Given the description of an element on the screen output the (x, y) to click on. 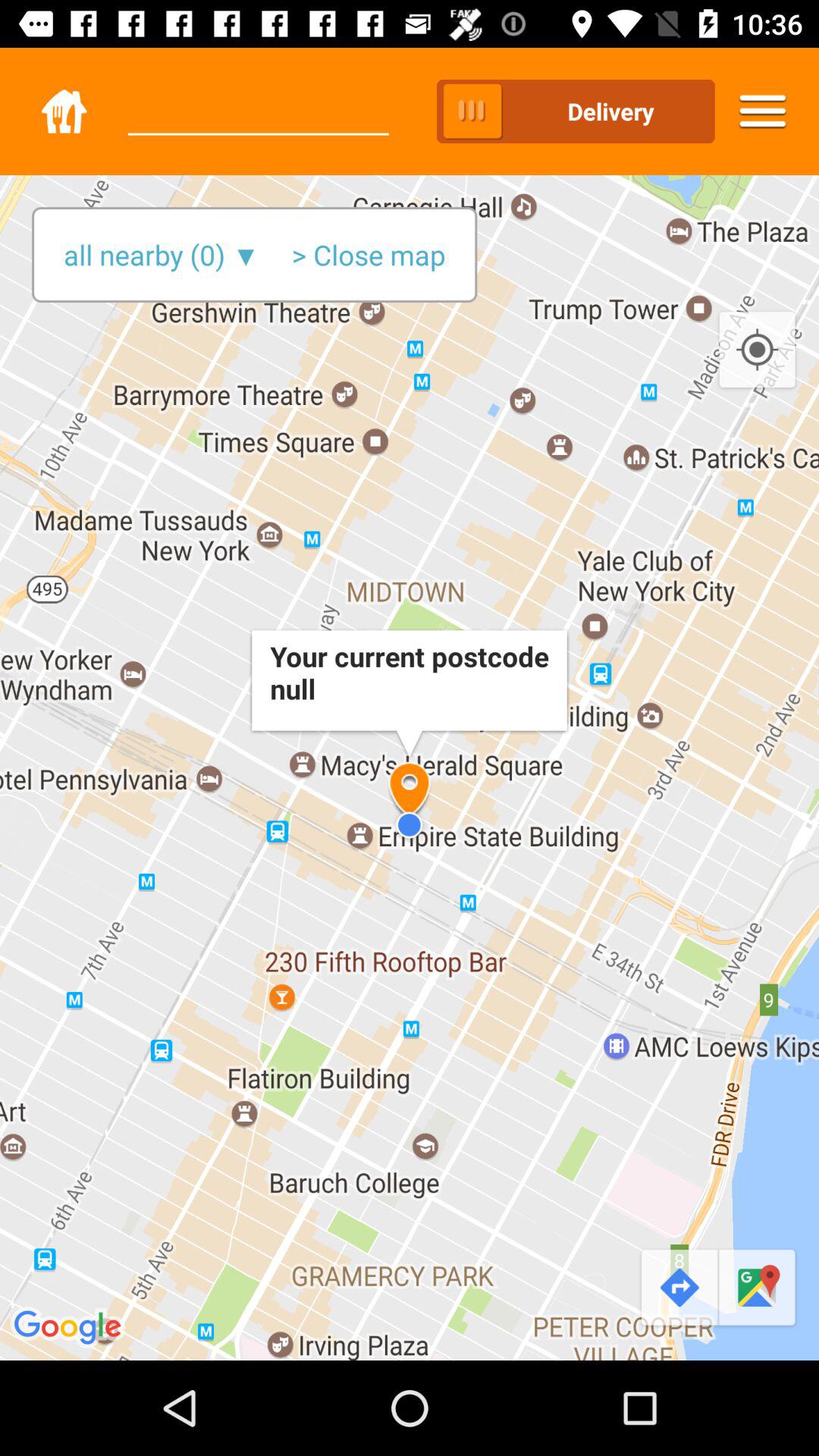
select > close map item (368, 254)
